Given the description of an element on the screen output the (x, y) to click on. 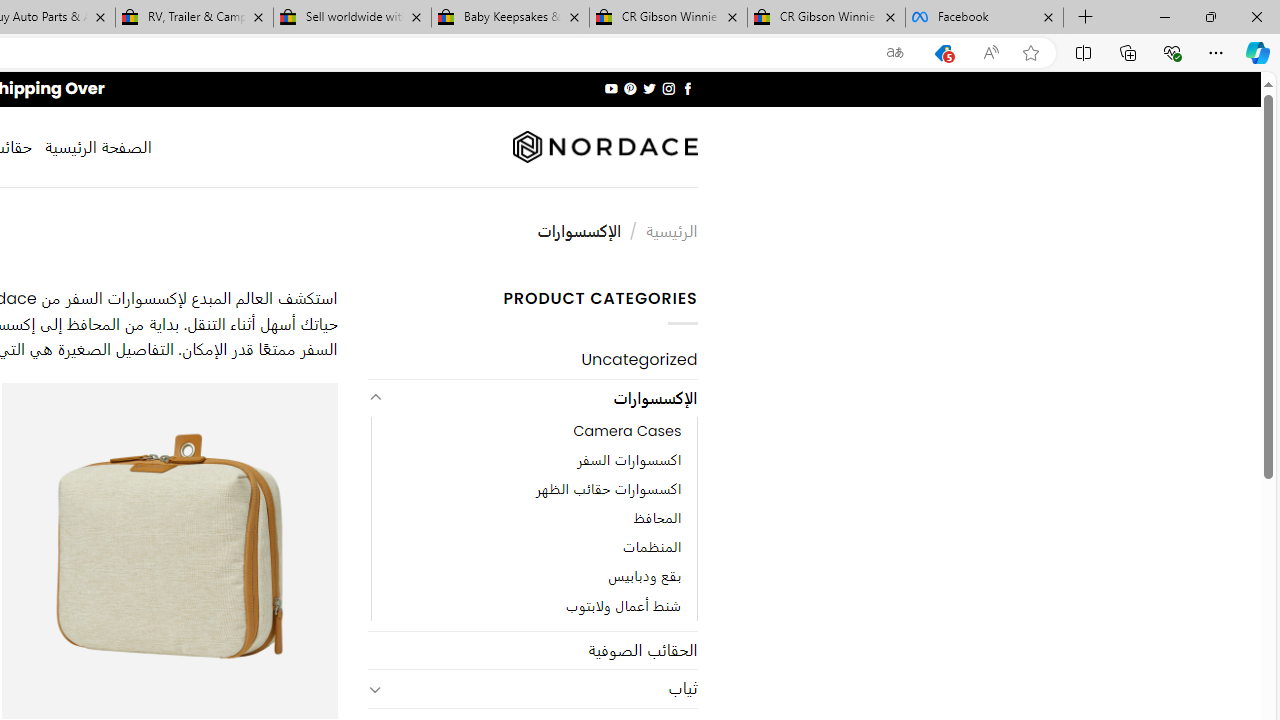
Read aloud this page (Ctrl+Shift+U) (991, 53)
Follow on Pinterest (630, 88)
Settings and more (Alt+F) (1215, 52)
Nordace (604, 147)
Copilot (Ctrl+Shift+.) (1258, 52)
Camera Cases (627, 431)
